Given the description of an element on the screen output the (x, y) to click on. 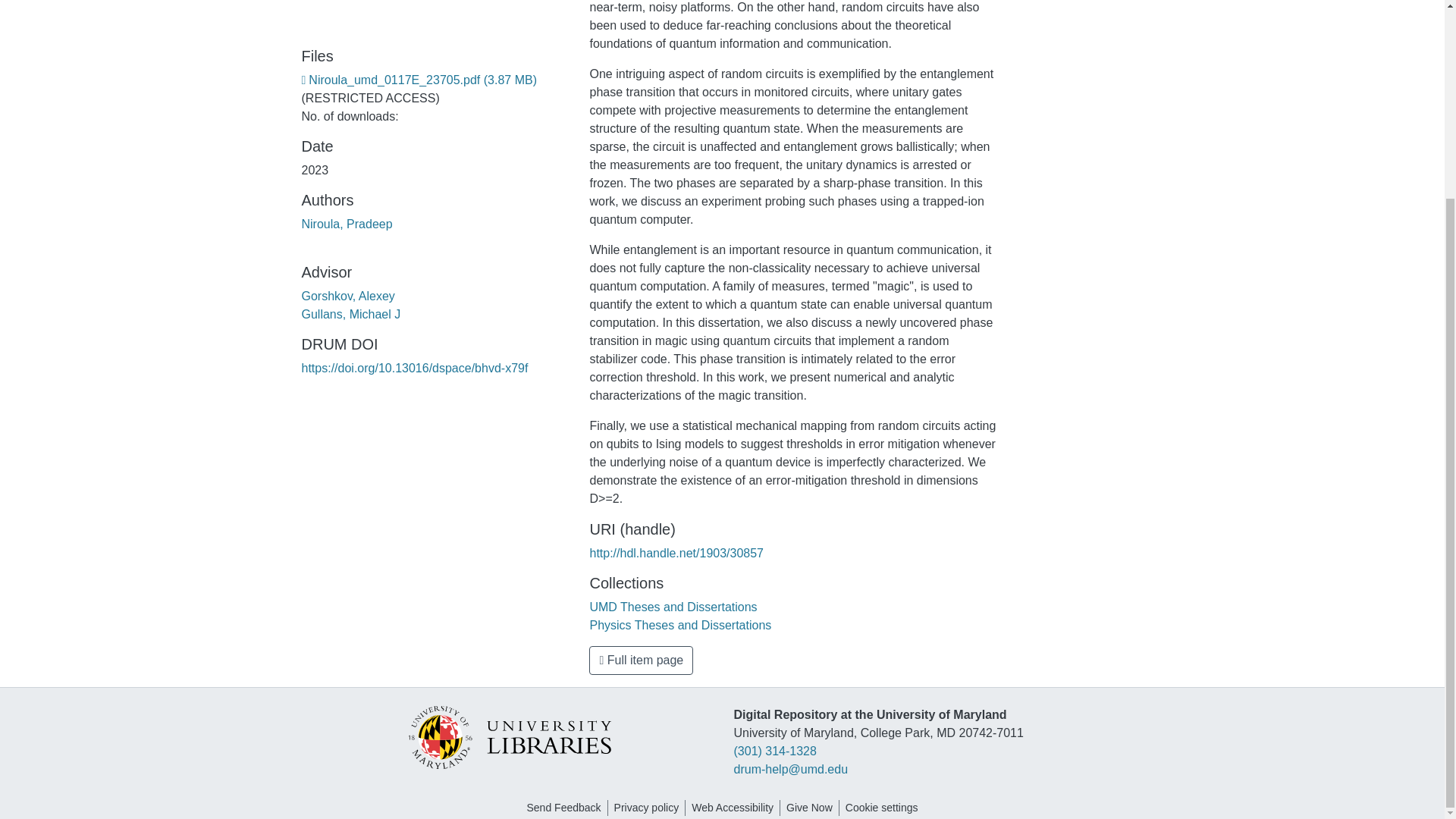
Give Now (809, 807)
Niroula, Pradeep (347, 223)
Privacy policy (646, 807)
Gullans, Michael J (351, 314)
Send Feedback (563, 807)
Full item page (641, 660)
Libraries Home Page (508, 736)
UMD Theses and Dissertations (673, 606)
Physics Theses and Dissertations (680, 625)
Cookie settings (882, 807)
Gorshkov, Alexey (347, 295)
Web Accessibility (731, 807)
